Given the description of an element on the screen output the (x, y) to click on. 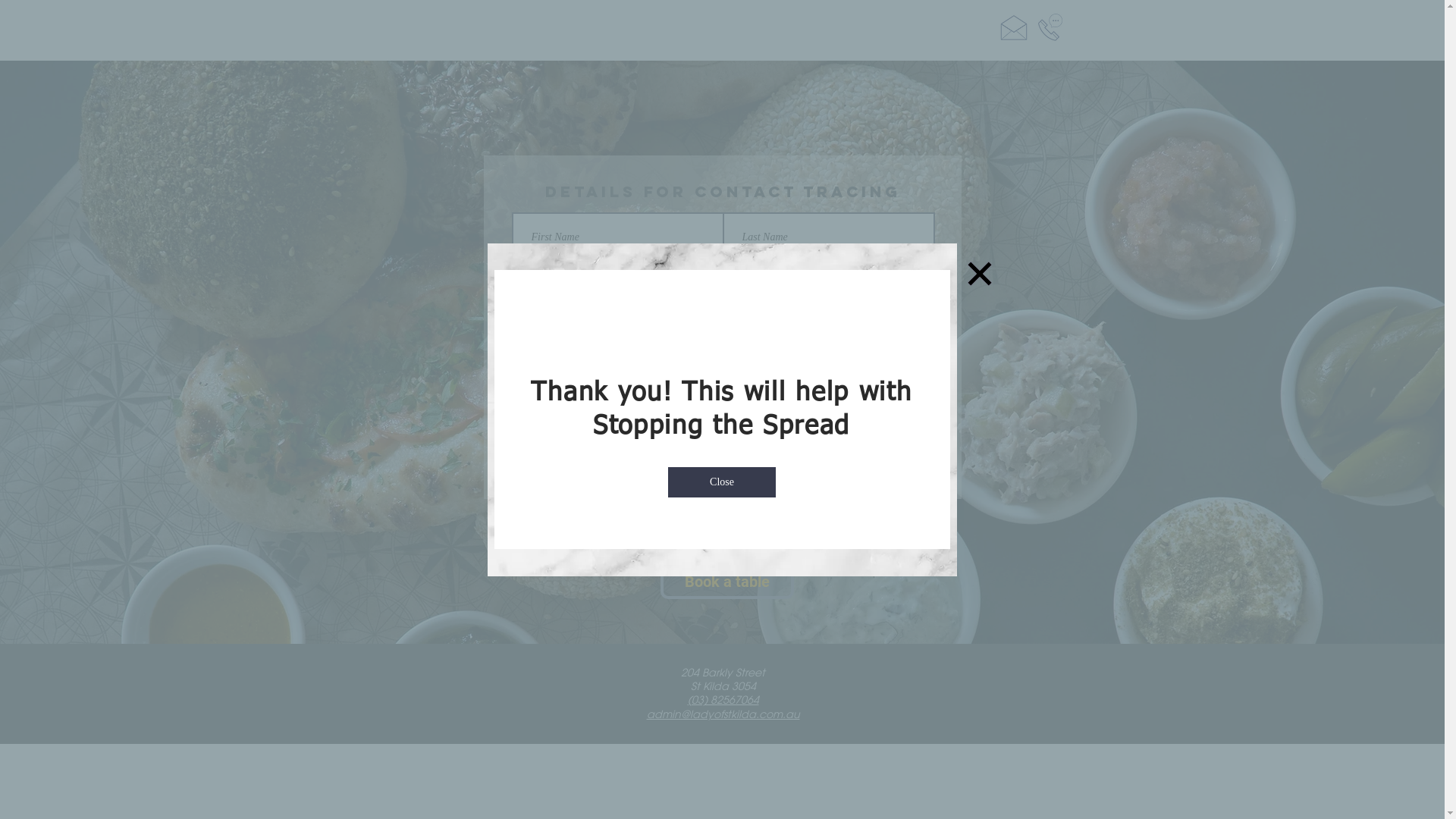
Email Element type: hover (1012, 27)
Submit Element type: text (722, 447)
Gallery Element type: hover (899, 27)
Back to site Element type: hover (979, 272)
Restaurant Social Bar Element type: hover (82, 18)
Book a table Element type: text (726, 581)
admin@ladyofstkilda.com.au Element type: text (722, 713)
